Given the description of an element on the screen output the (x, y) to click on. 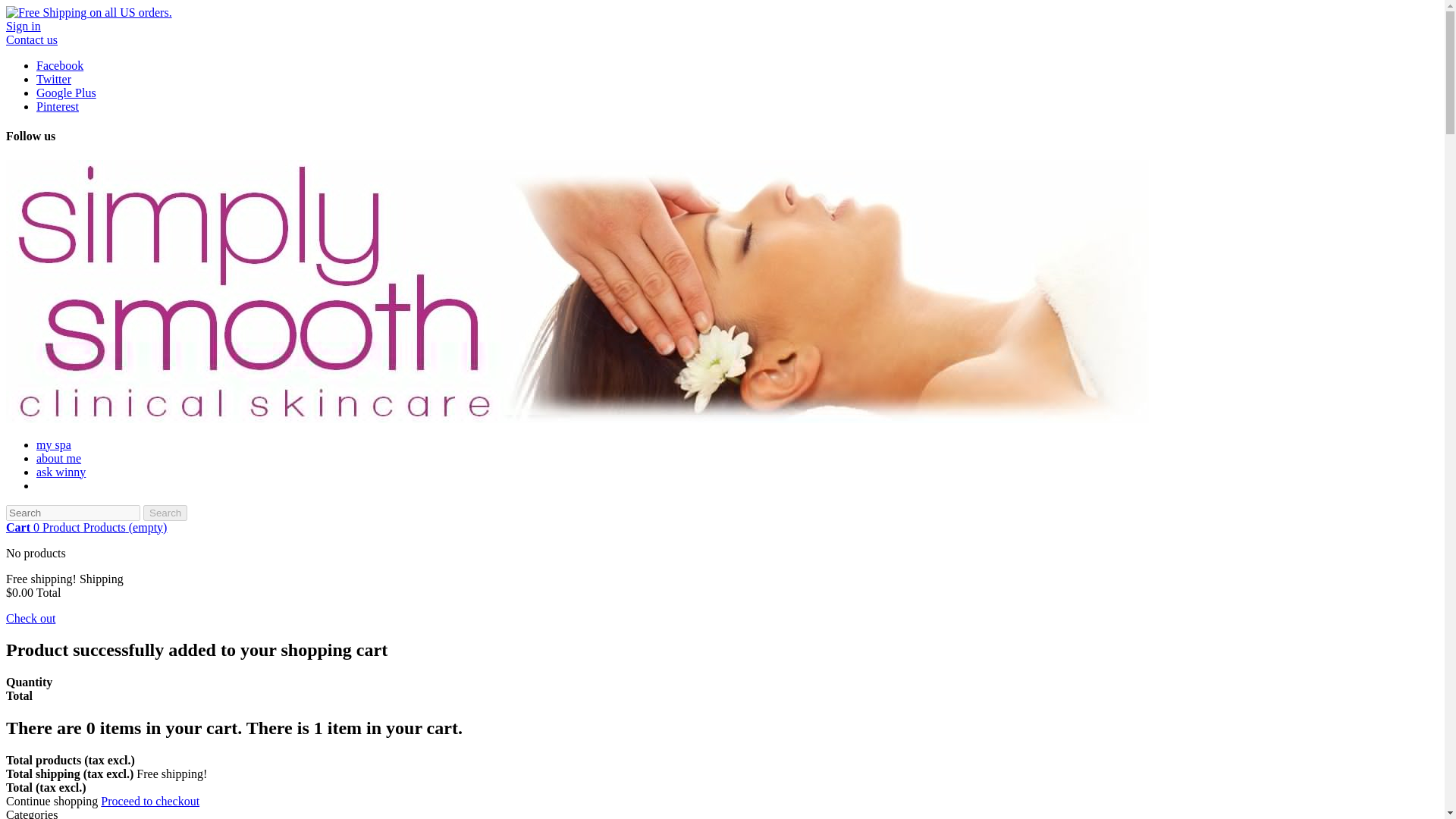
Twitter (53, 78)
Proceed to checkout (149, 800)
Search (164, 512)
my spa (53, 444)
Free Shipping on all US orders. (88, 12)
about me (58, 458)
Personalised skin care advice (60, 472)
Check out (30, 617)
Proceed to checkout (149, 800)
Contact Us (31, 39)
